Given the description of an element on the screen output the (x, y) to click on. 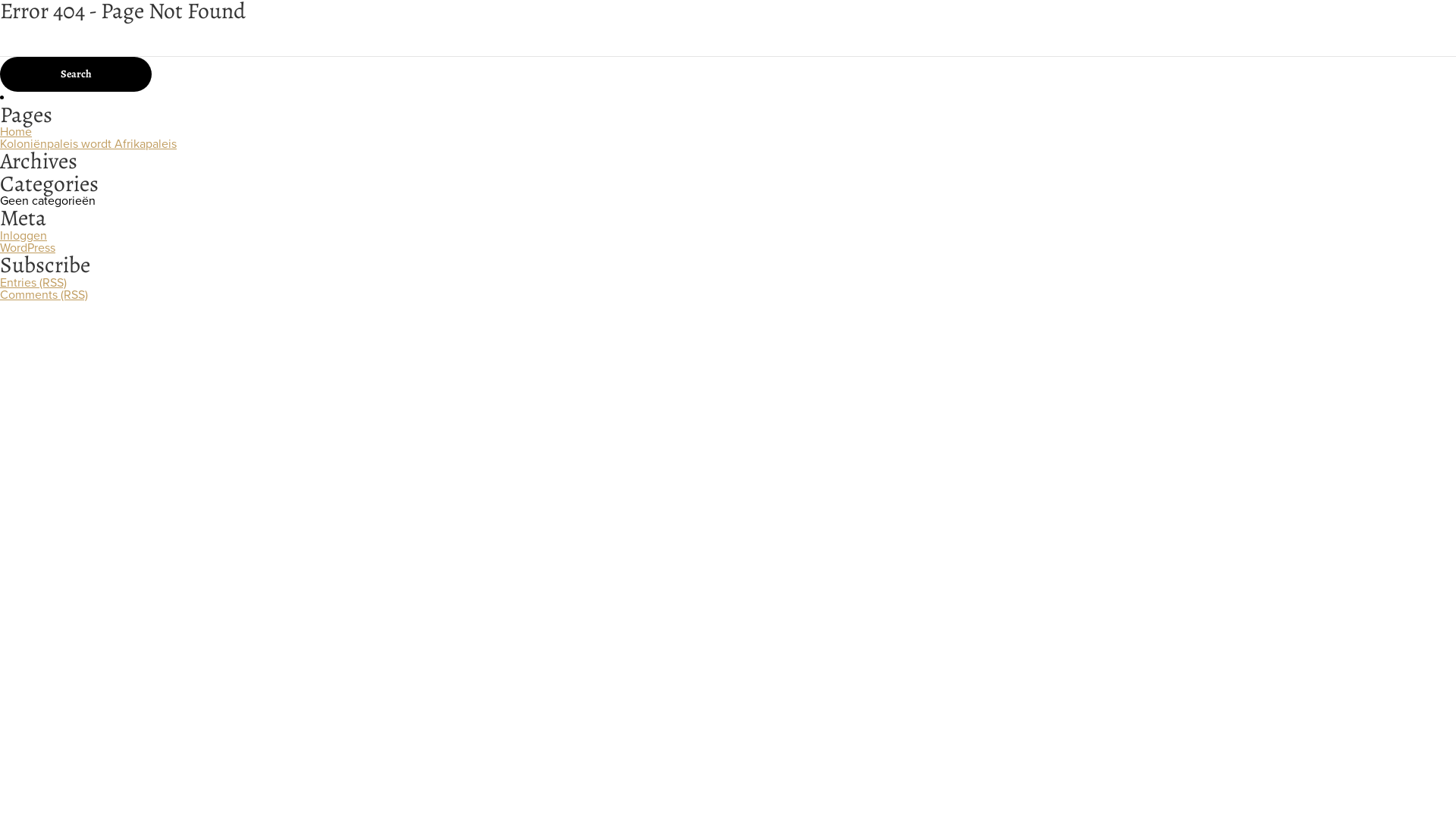
Entries (RSS) Element type: text (33, 282)
Comments (RSS) Element type: text (43, 294)
Home Element type: text (15, 131)
Inloggen Element type: text (23, 235)
WordPress Element type: text (27, 247)
Search Element type: text (75, 73)
